Given the description of an element on the screen output the (x, y) to click on. 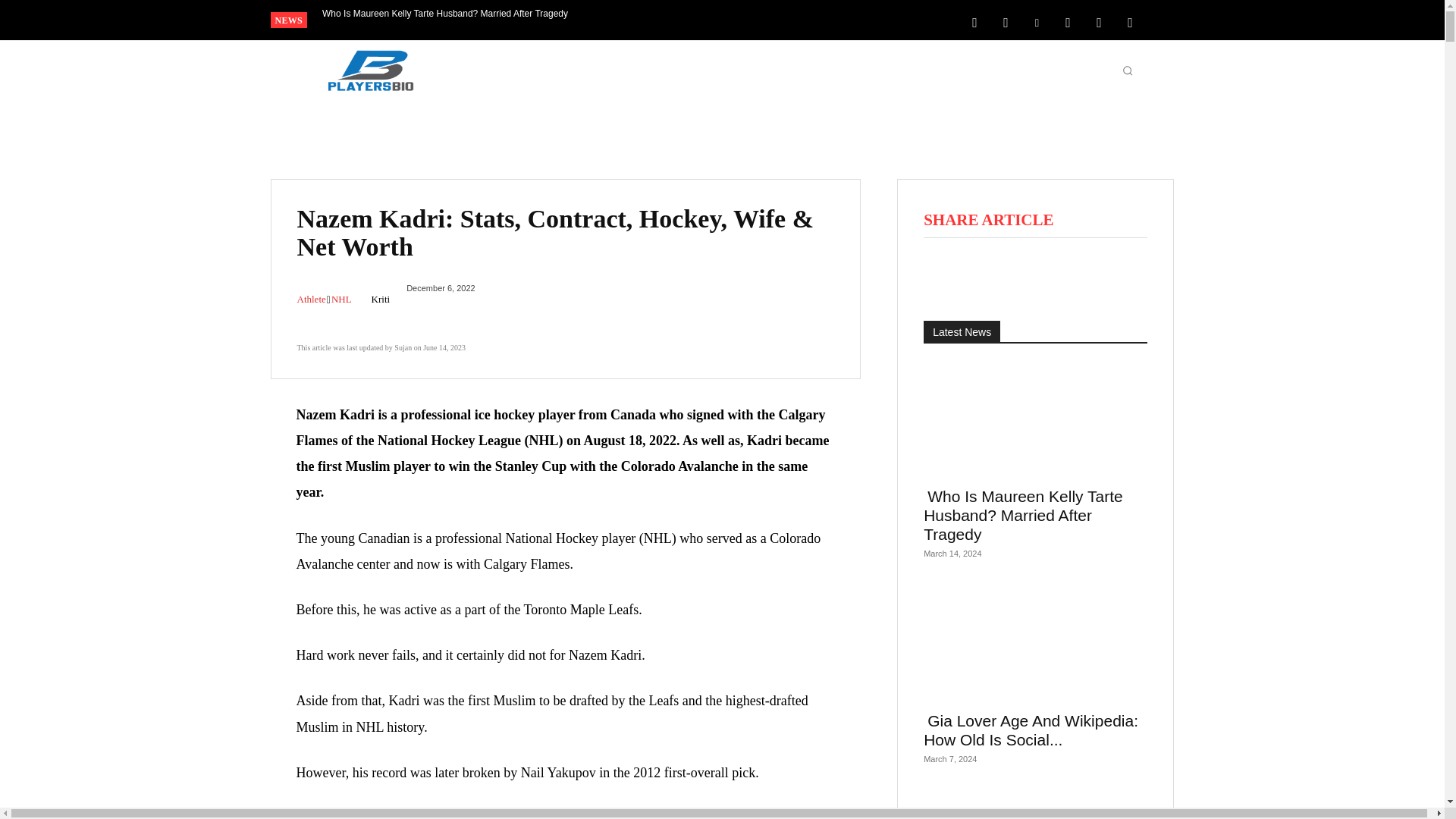
Who Is Maureen Kelly Tarte Husband? Married After Tragedy (445, 13)
Instagram (1005, 21)
Who Is Maureen Kelly Tarte Husband? Married After Tragedy (445, 13)
Facebook (974, 21)
